Given the description of an element on the screen output the (x, y) to click on. 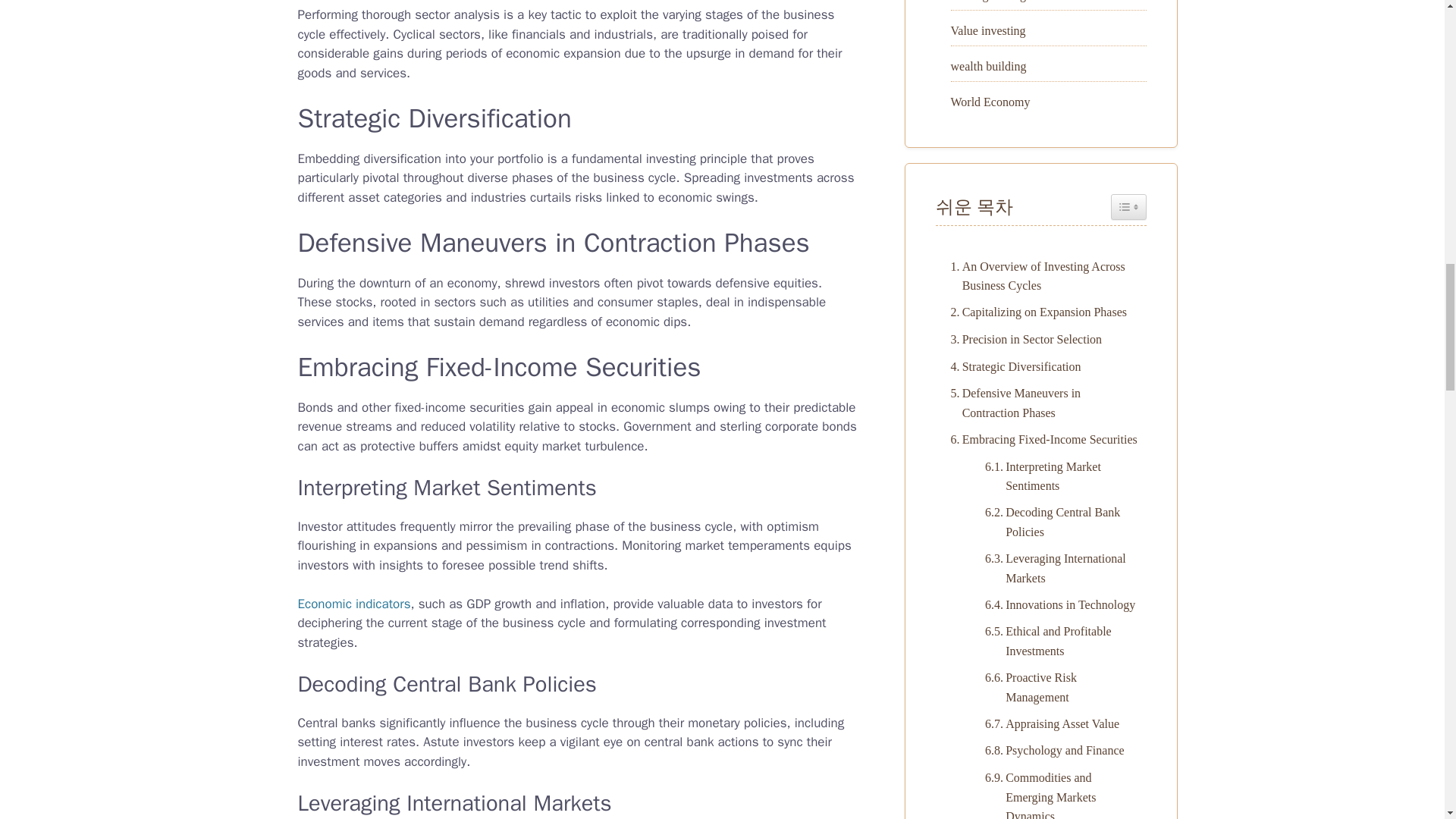
Economic indicators (353, 603)
